Given the description of an element on the screen output the (x, y) to click on. 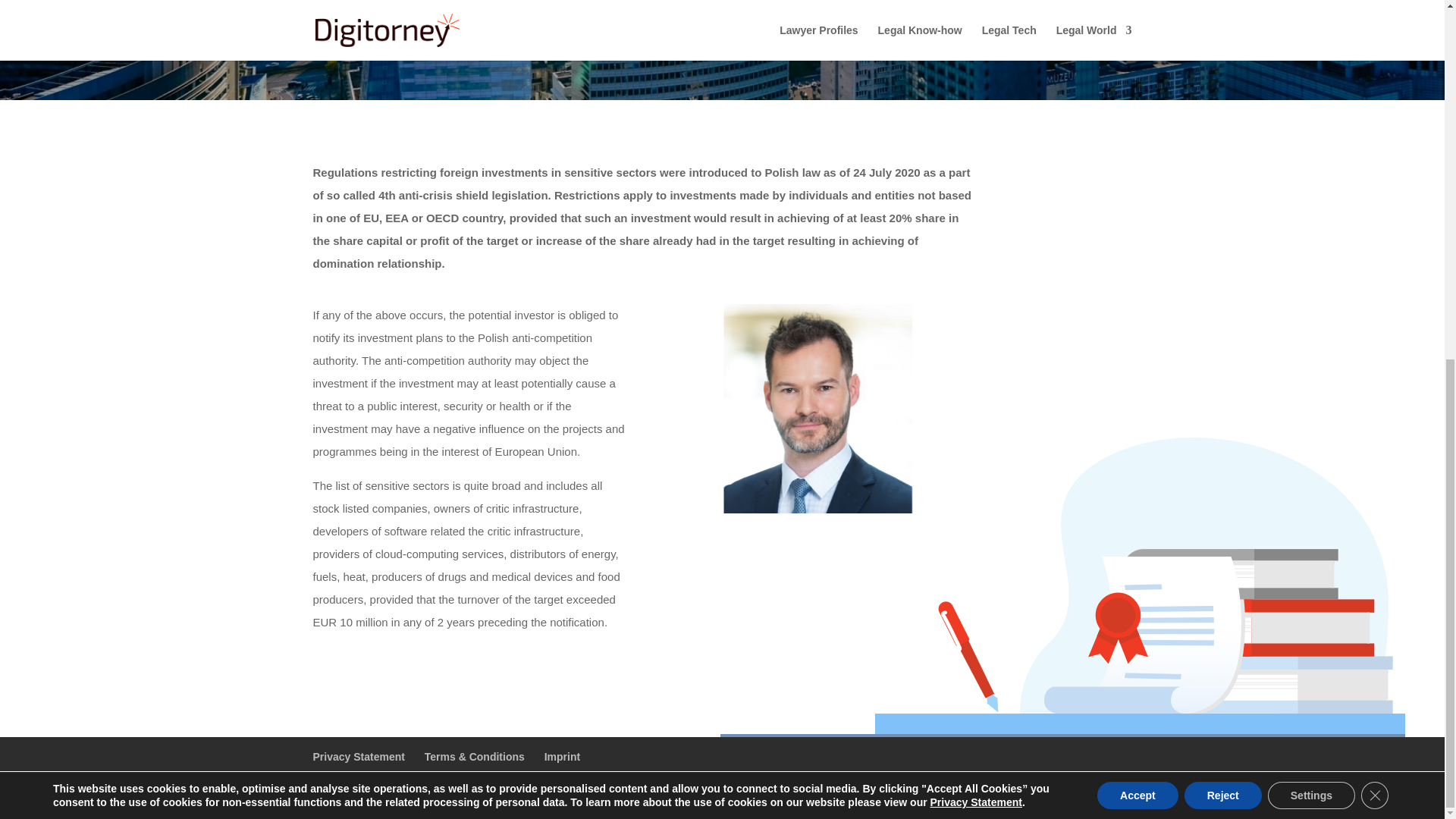
Privacy Statement (358, 756)
tomek-rysiak (819, 408)
Reject (1223, 159)
Close GDPR Cookie Banner (1375, 159)
Imprint (561, 756)
Privacy Statement (976, 166)
Accept (1137, 159)
Settings (1311, 159)
